Given the description of an element on the screen output the (x, y) to click on. 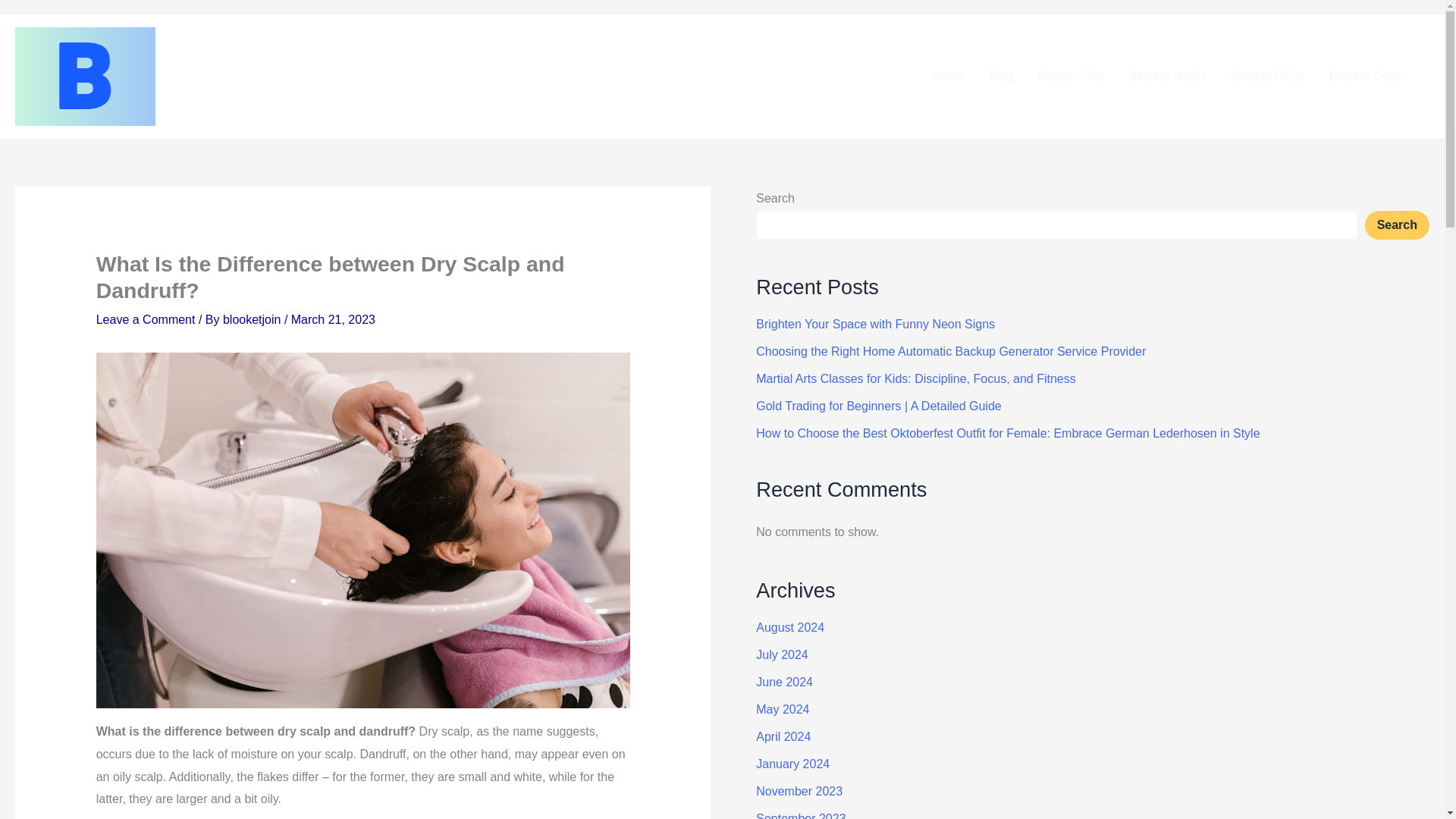
View all posts by blooketjoin (252, 318)
Blooket Play (1070, 76)
Brighten Your Space with Funny Neon Signs (874, 323)
June 2024 (783, 681)
Leave a Comment (145, 318)
Search (1397, 224)
Blooket Hacks (1167, 76)
